Given the description of an element on the screen output the (x, y) to click on. 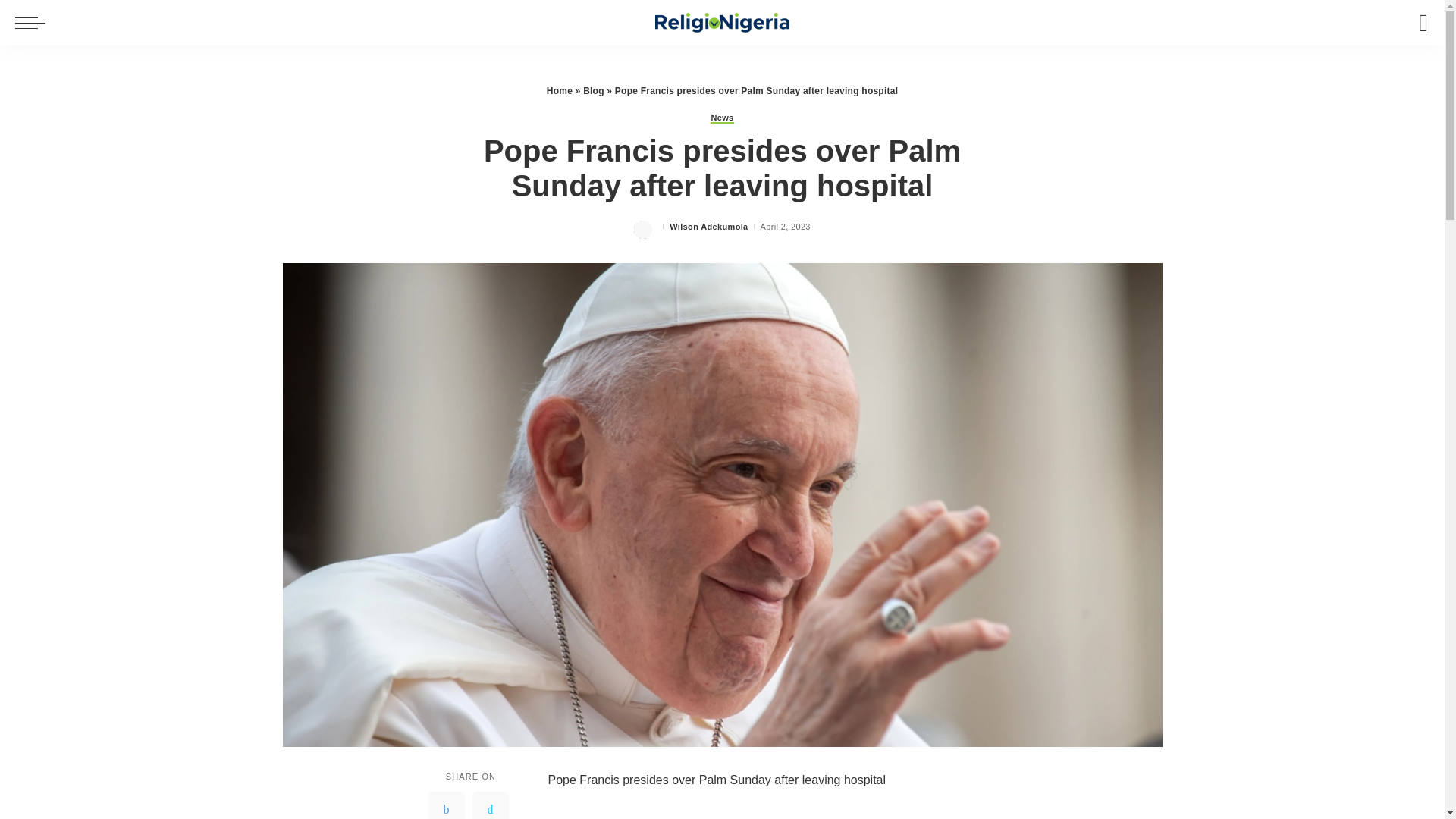
News (721, 118)
Blog (593, 90)
Wilson Adekumola (708, 226)
Facebook (446, 805)
Home (559, 90)
Twitter (489, 805)
